Given the description of an element on the screen output the (x, y) to click on. 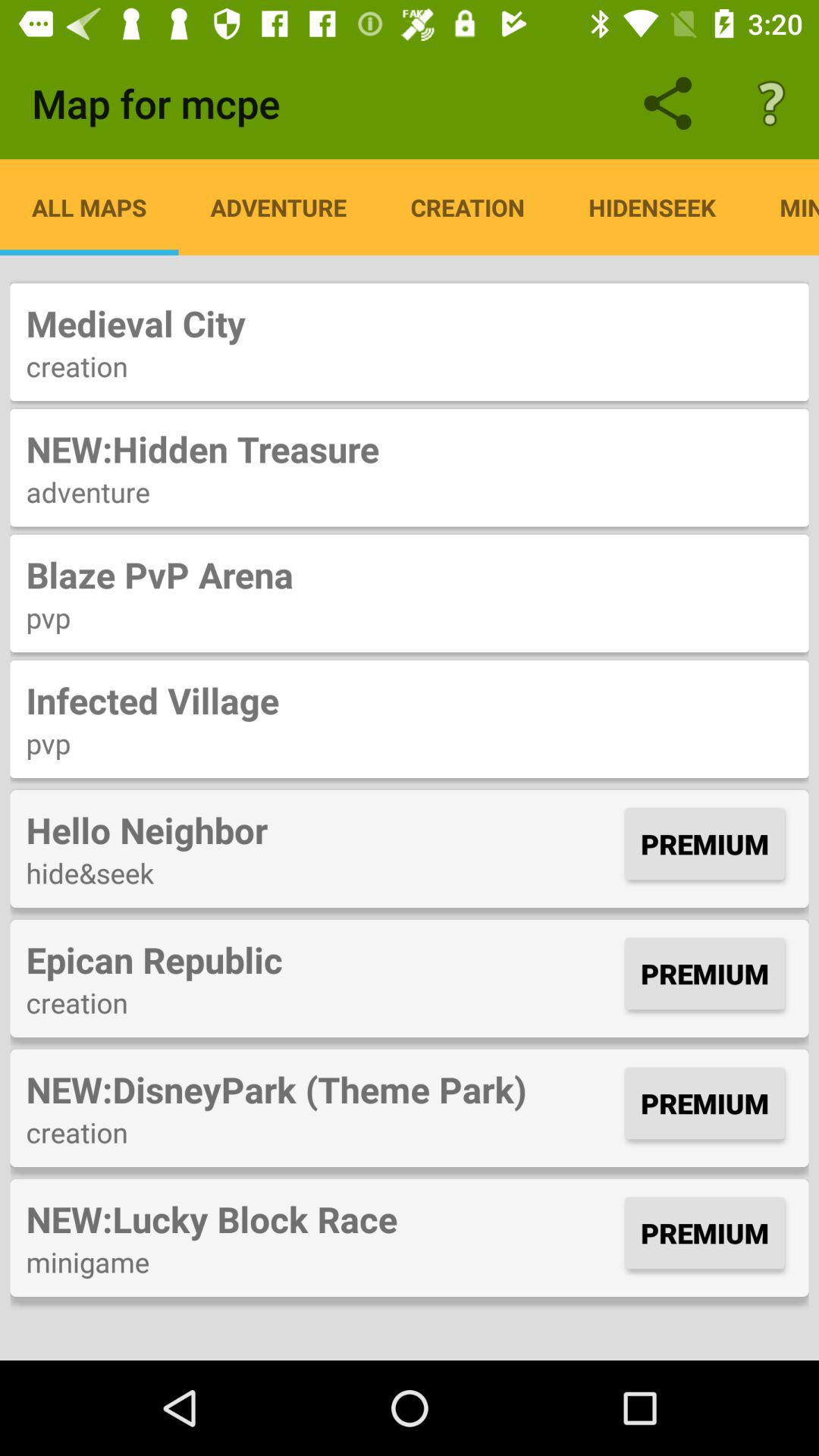
turn off item above the creation item (321, 959)
